Given the description of an element on the screen output the (x, y) to click on. 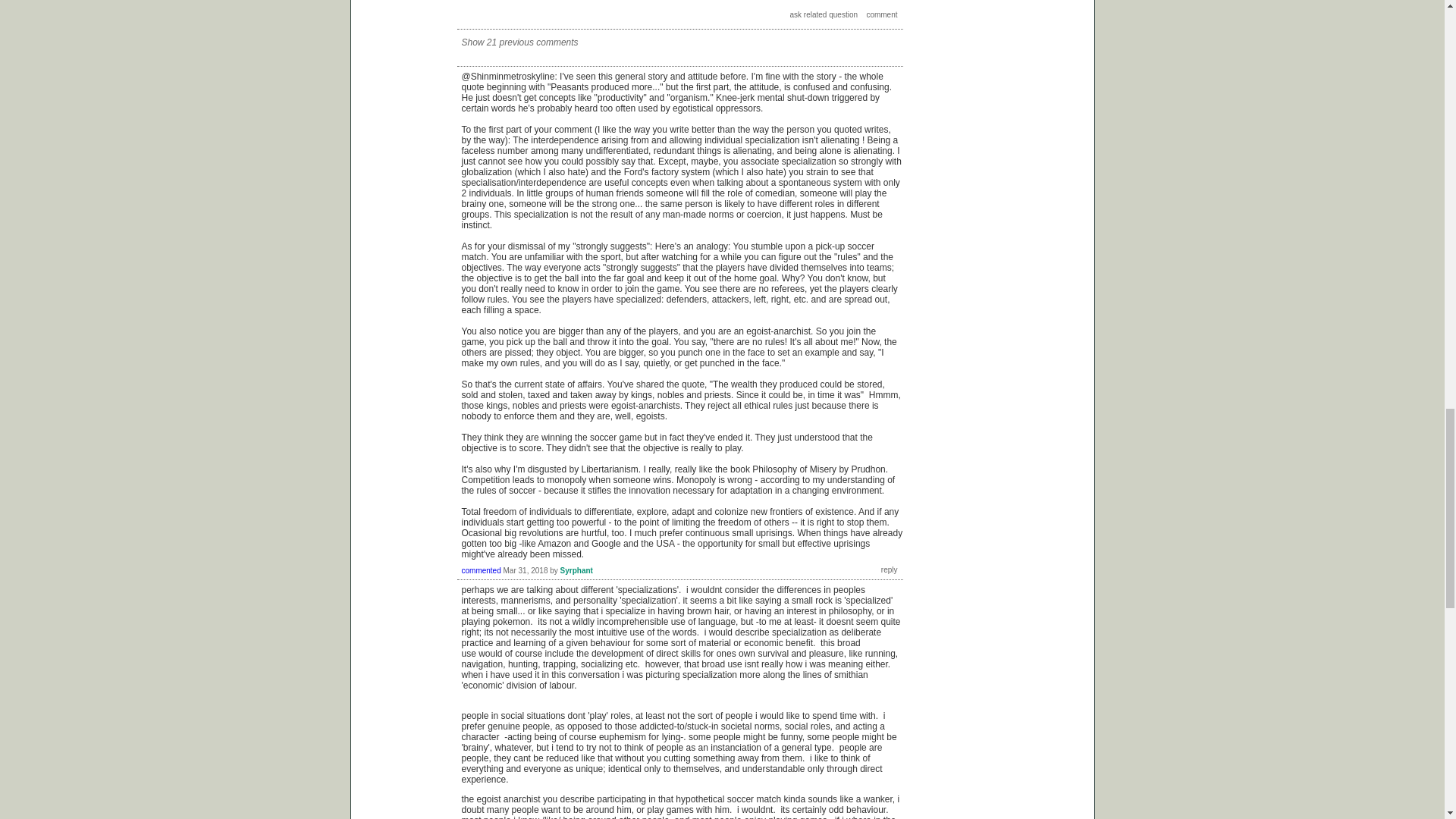
comment (881, 14)
ask related question (824, 14)
